Given the description of an element on the screen output the (x, y) to click on. 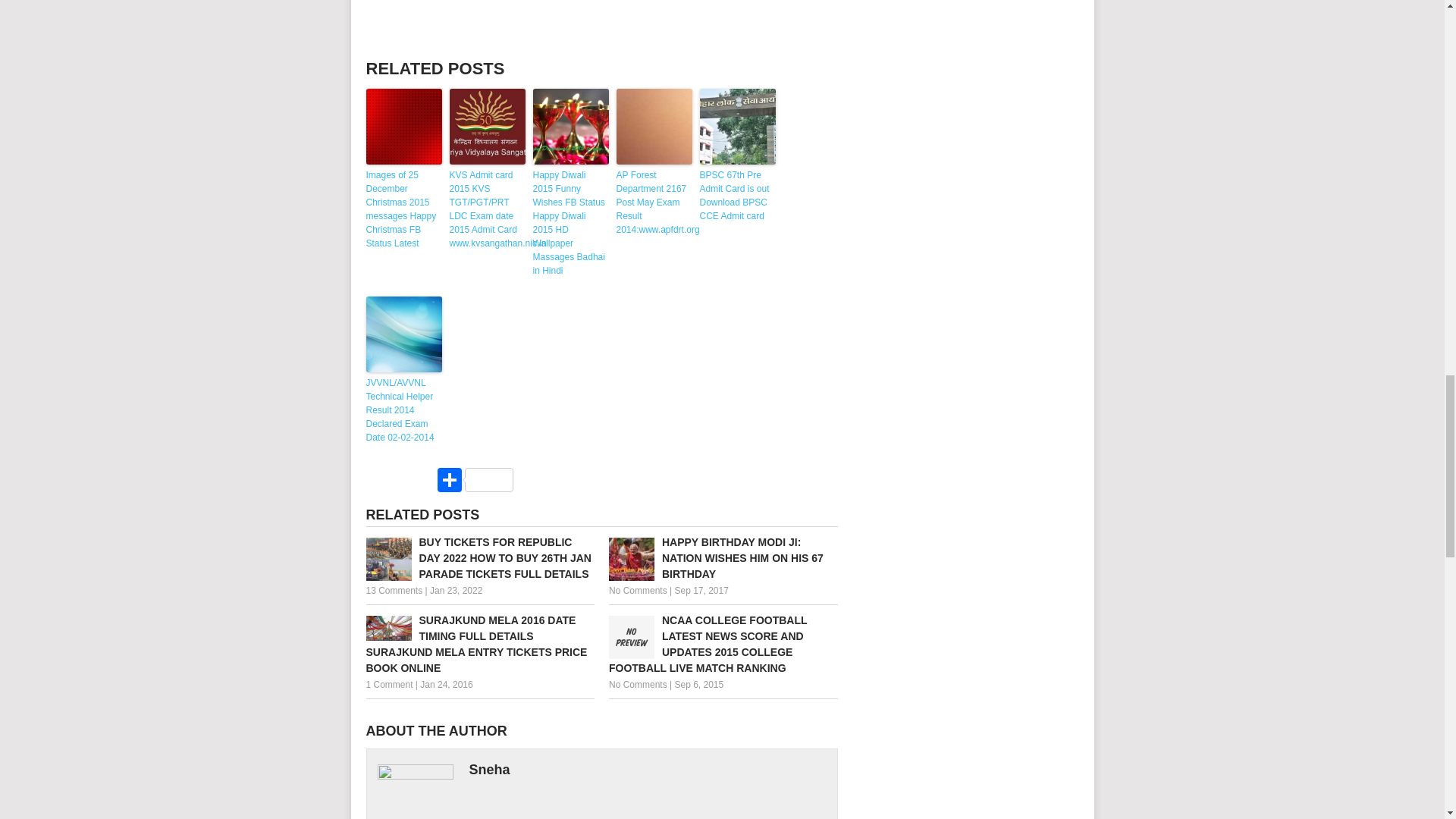
Happy Birthday Modi Ji: Nation Wishes Him on his 67 Birthday (723, 558)
Advertisement (601, 22)
